Given the description of an element on the screen output the (x, y) to click on. 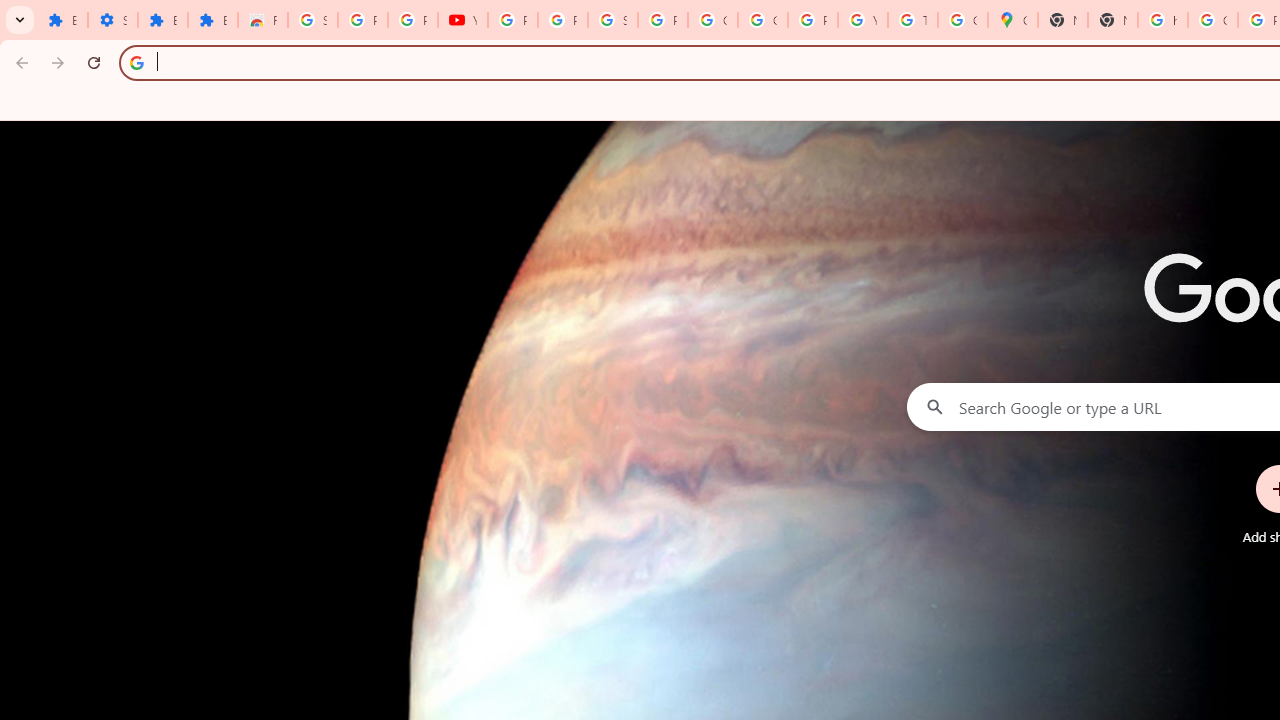
YouTube (462, 20)
https://scholar.google.com/ (1162, 20)
Reviews: Helix Fruit Jump Arcade Game (262, 20)
Extensions (163, 20)
Google Maps (1013, 20)
Extensions (62, 20)
New Tab (1112, 20)
